Given the description of an element on the screen output the (x, y) to click on. 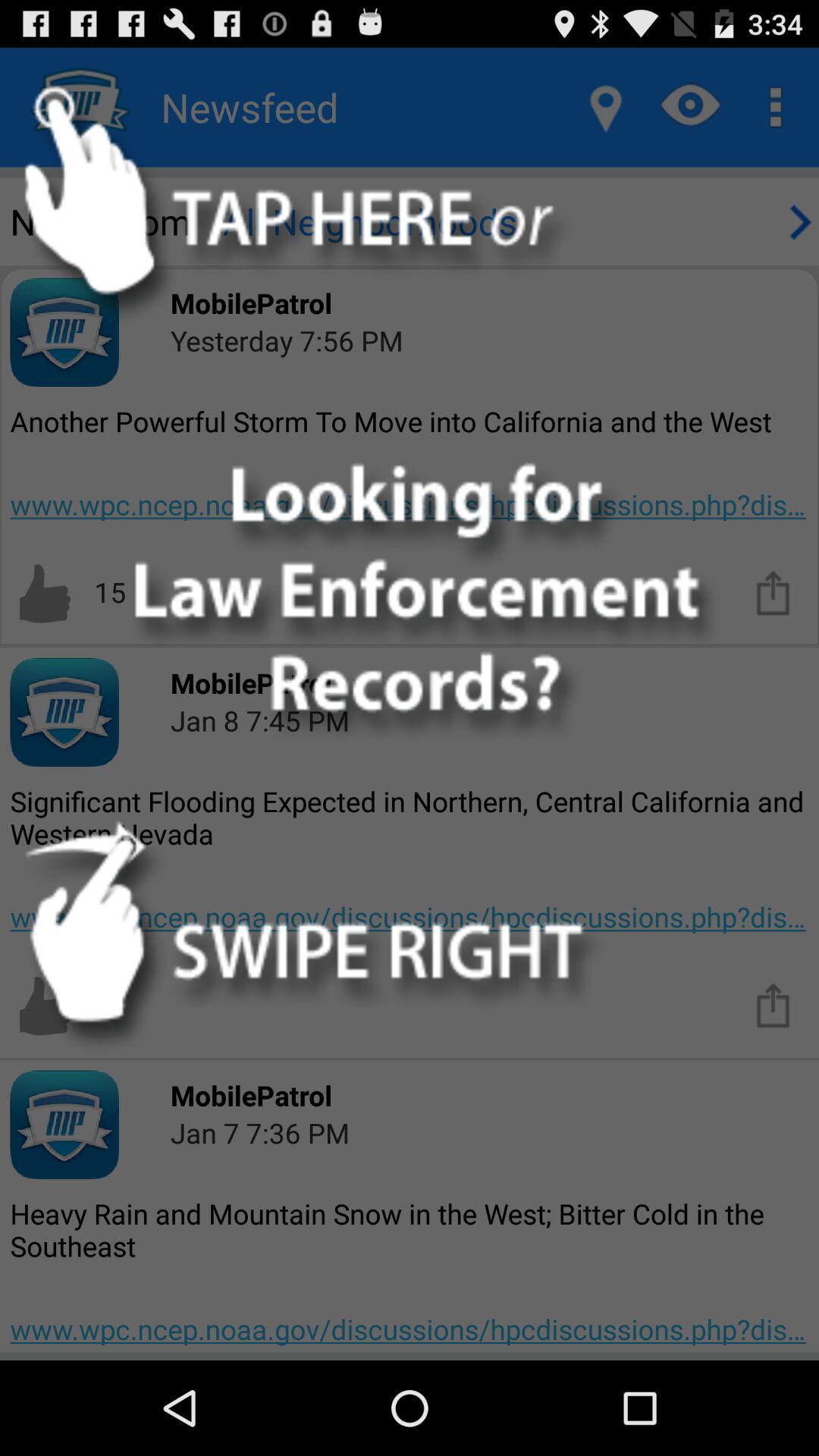
see more (774, 592)
